Given the description of an element on the screen output the (x, y) to click on. 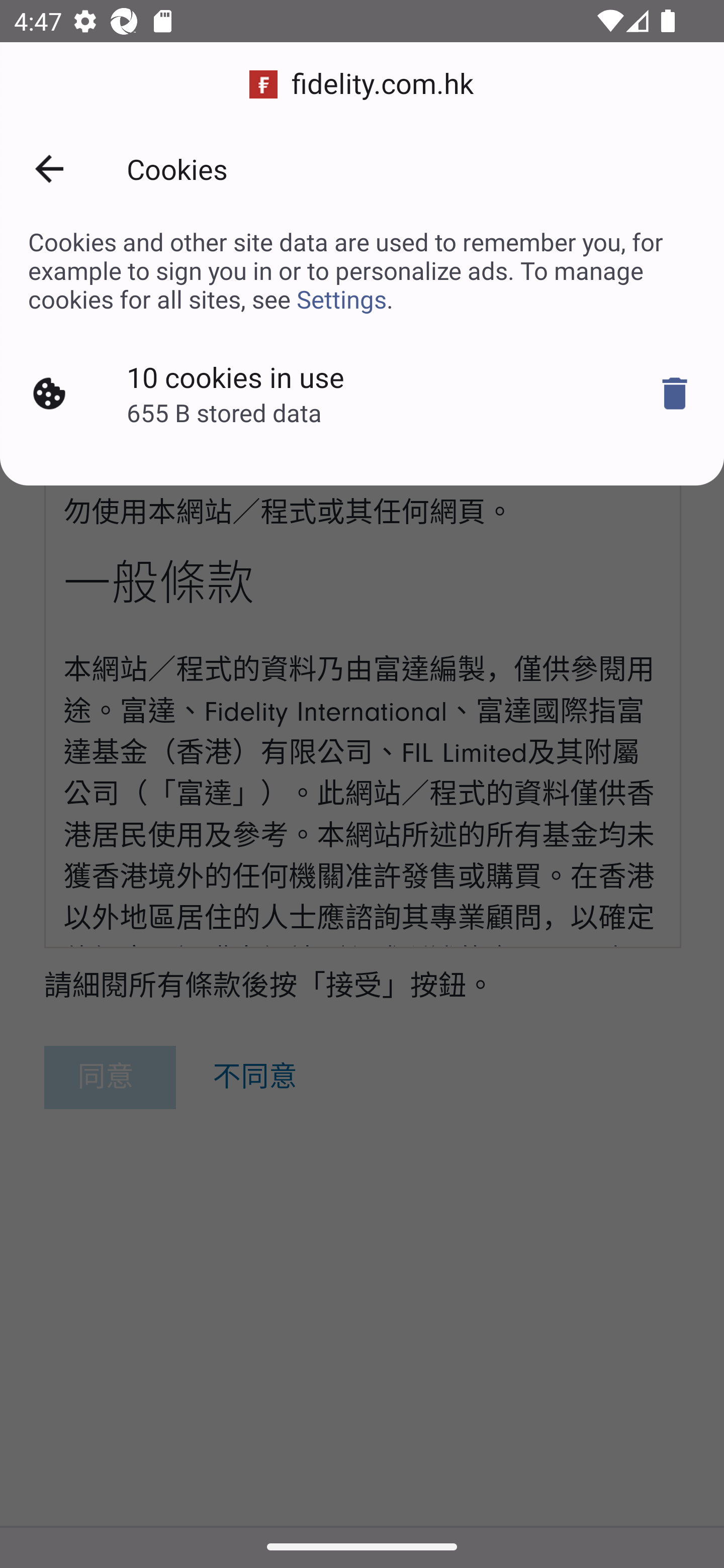
fidelity.com.hk (362, 84)
Back (49, 169)
10 cookies in use 655 B stored data Clear cookies? (362, 393)
